Given the description of an element on the screen output the (x, y) to click on. 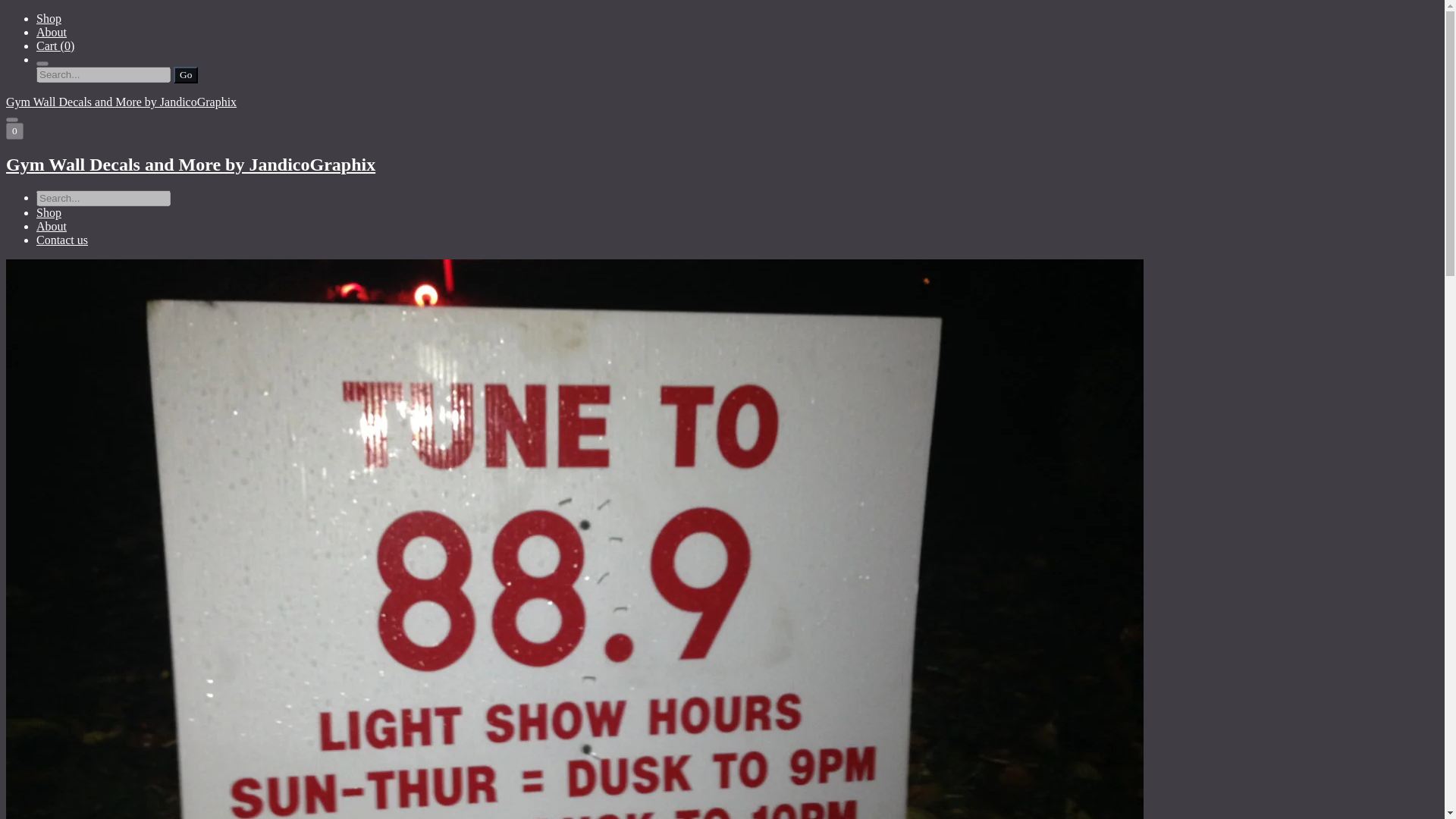
0 (14, 130)
About (51, 226)
Go (185, 74)
About (51, 31)
Go (185, 74)
Contact us (61, 239)
Shop (48, 212)
Shop (48, 18)
